Given the description of an element on the screen output the (x, y) to click on. 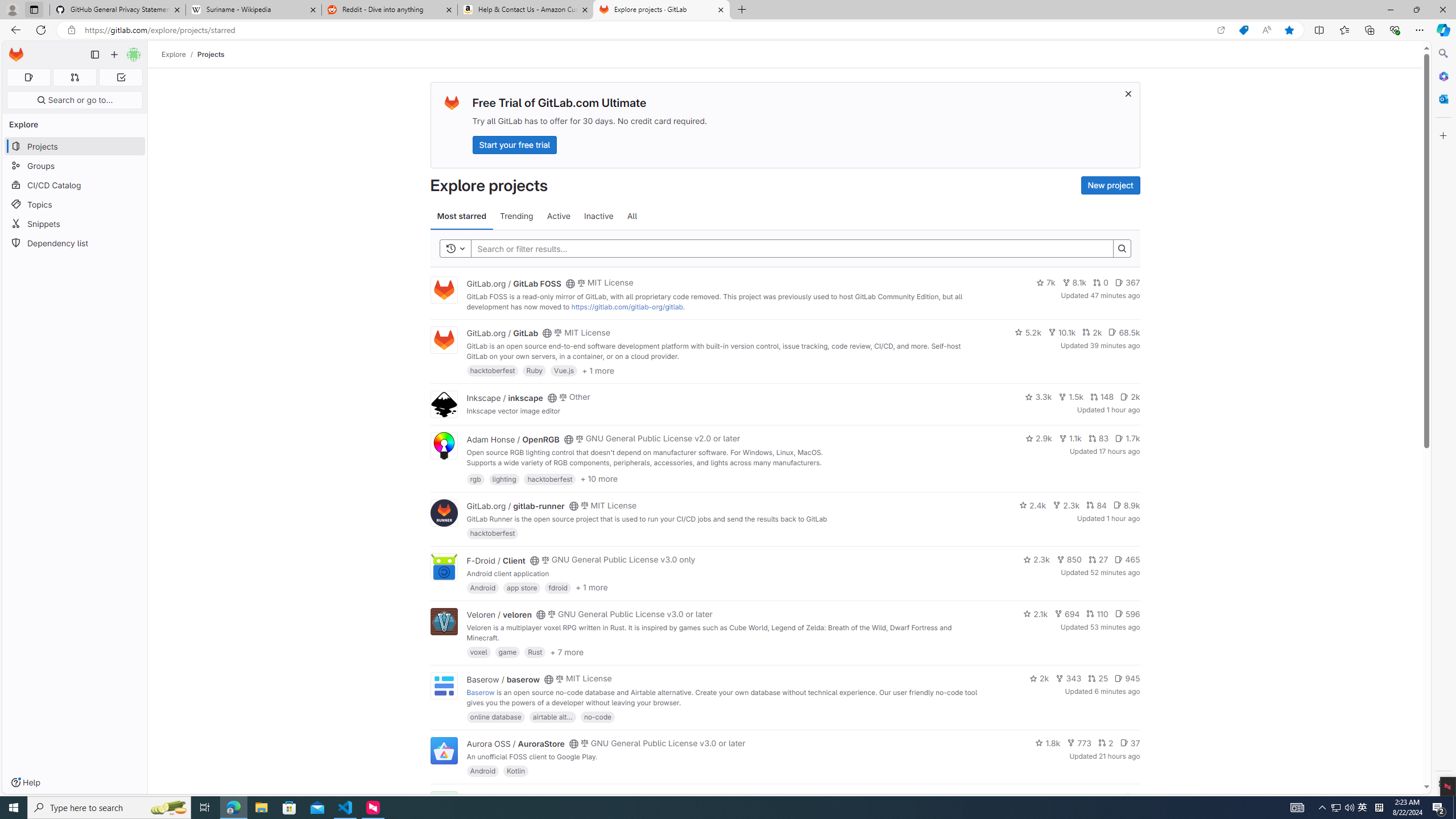
Aurora OSS / AuroraStore (514, 743)
online database (495, 715)
8.1k (1073, 282)
Class: s14 gl-mr-2 (1128, 796)
Adam Honse / OpenRGB (512, 438)
GitLab.org / GitLab (501, 333)
27 (1097, 559)
1.4k (1054, 797)
Rust (535, 651)
8.9k (1126, 504)
